Given the description of an element on the screen output the (x, y) to click on. 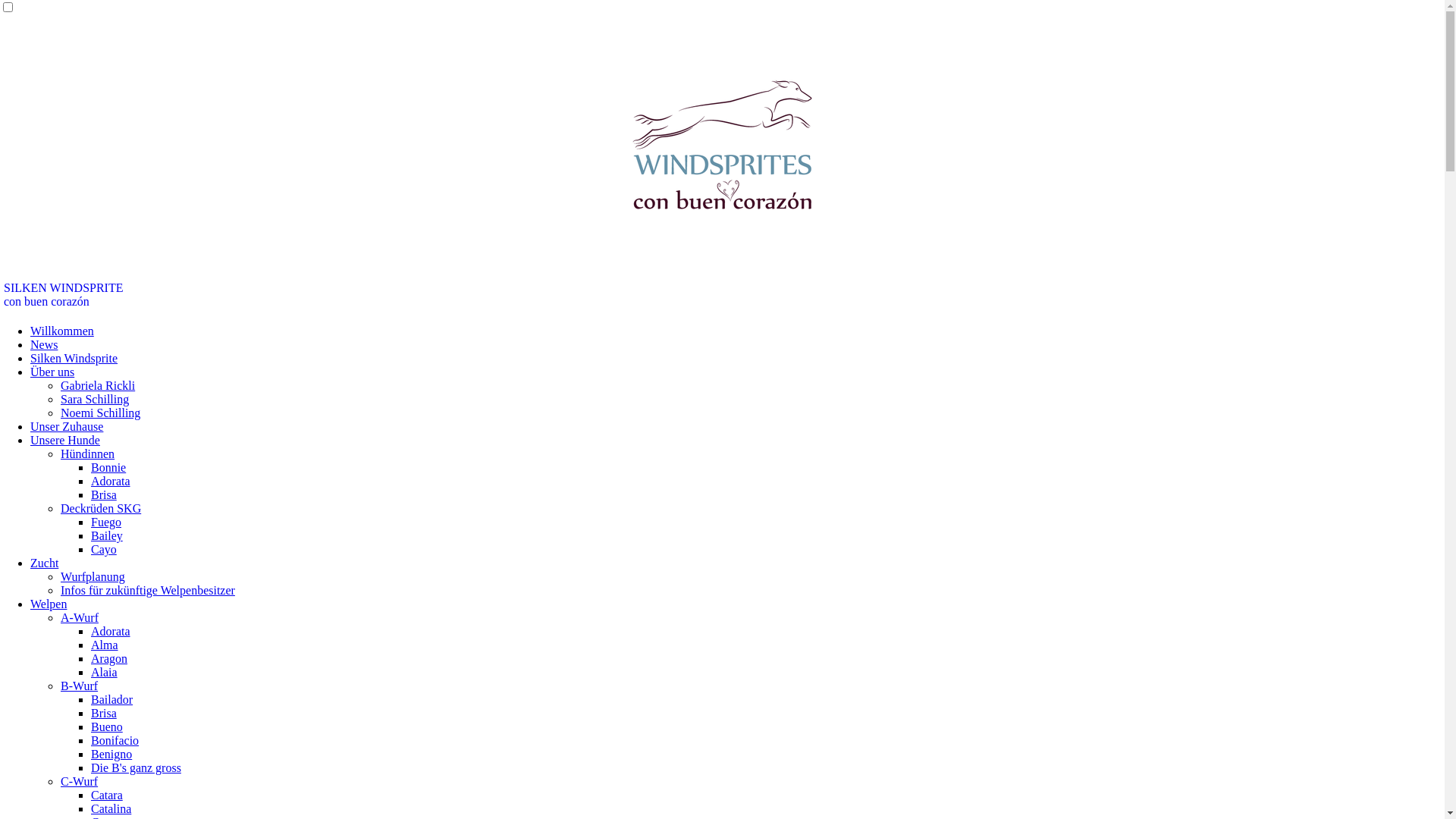
Bailey Element type: text (106, 535)
Alaia Element type: text (104, 671)
Bonnie Element type: text (108, 467)
Unsere Hunde Element type: text (65, 439)
Bonifacio Element type: text (114, 740)
Zucht Element type: text (44, 562)
Gabriela Rickli Element type: text (97, 385)
Bueno Element type: text (106, 726)
Unser Zuhause Element type: text (66, 426)
Sara Schilling Element type: text (94, 398)
Silken Windsprite Element type: text (73, 357)
Wurfplanung Element type: text (92, 576)
B-Wurf Element type: text (78, 685)
Noemi Schilling Element type: text (100, 412)
Die B's ganz gross Element type: text (136, 767)
Brisa Element type: text (103, 494)
A-Wurf Element type: text (79, 617)
Catalina Element type: text (111, 808)
Benigno Element type: text (111, 753)
Adorata Element type: text (110, 480)
Fuego Element type: text (106, 521)
Aragon Element type: text (109, 658)
Cayo Element type: text (103, 548)
Brisa Element type: text (103, 712)
Willkommen Element type: text (62, 330)
Alma Element type: text (104, 644)
Catara Element type: text (106, 794)
Adorata Element type: text (110, 630)
Welpen Element type: text (48, 603)
News Element type: text (43, 344)
C-Wurf Element type: text (78, 781)
Bailador Element type: text (111, 699)
